Given the description of an element on the screen output the (x, y) to click on. 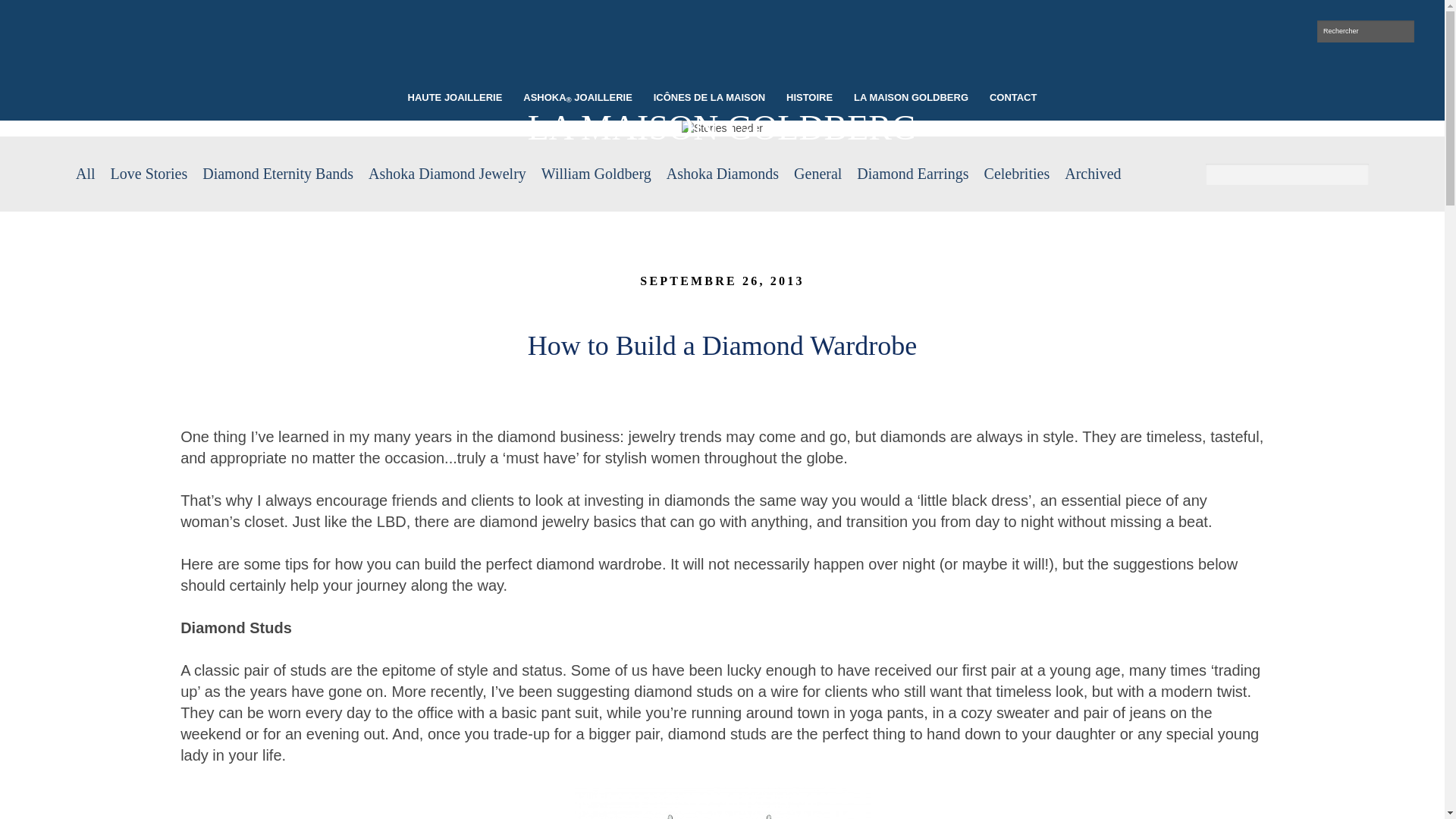
William Goldberg (721, 46)
Rechercher (1365, 31)
Rechercher (1365, 31)
